Given the description of an element on the screen output the (x, y) to click on. 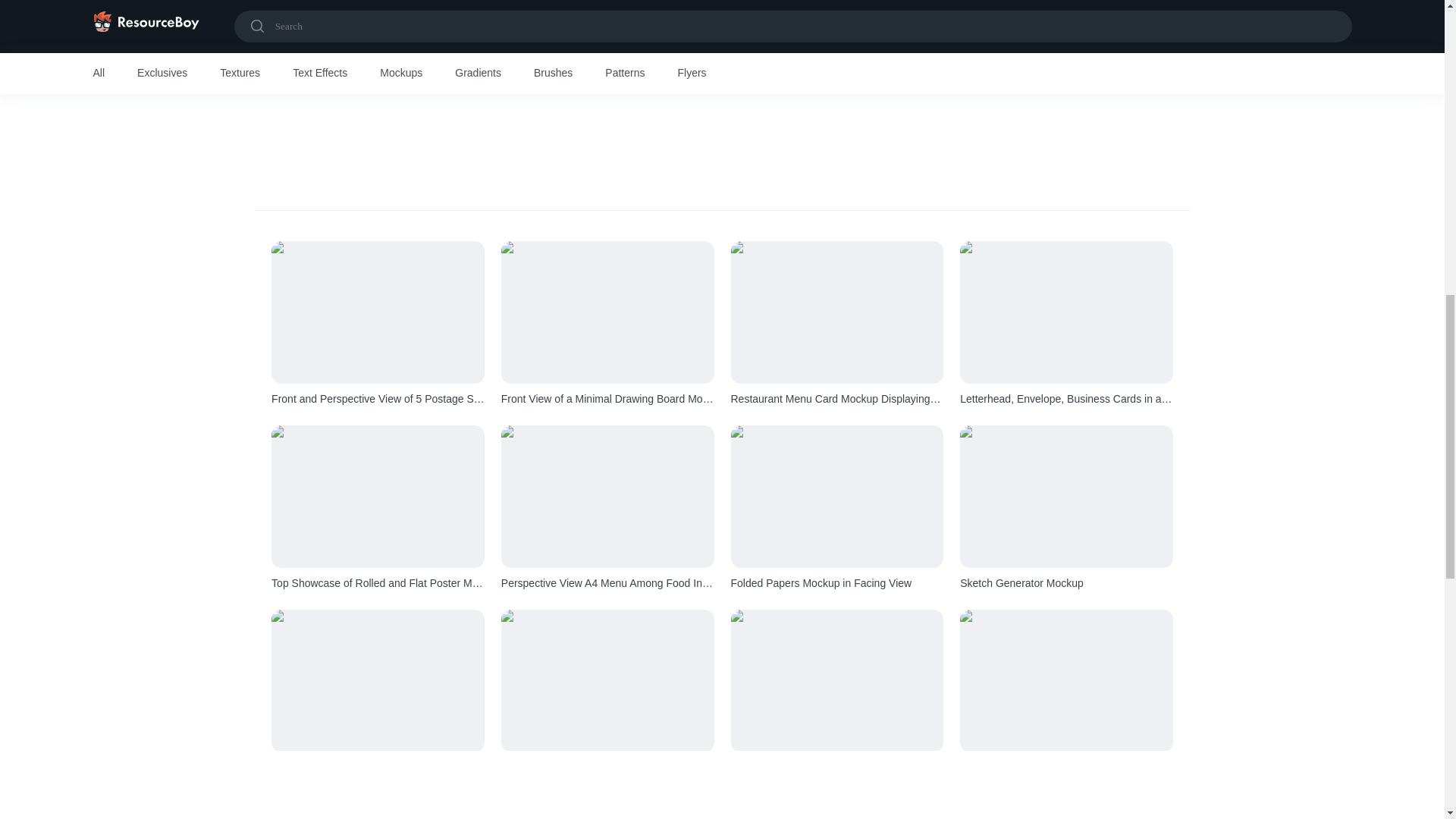
Front View of a Minimal Drawing Board Mockup (607, 398)
Front and Perspective View of 5 Postage Stamp Mockups (377, 398)
